Given the description of an element on the screen output the (x, y) to click on. 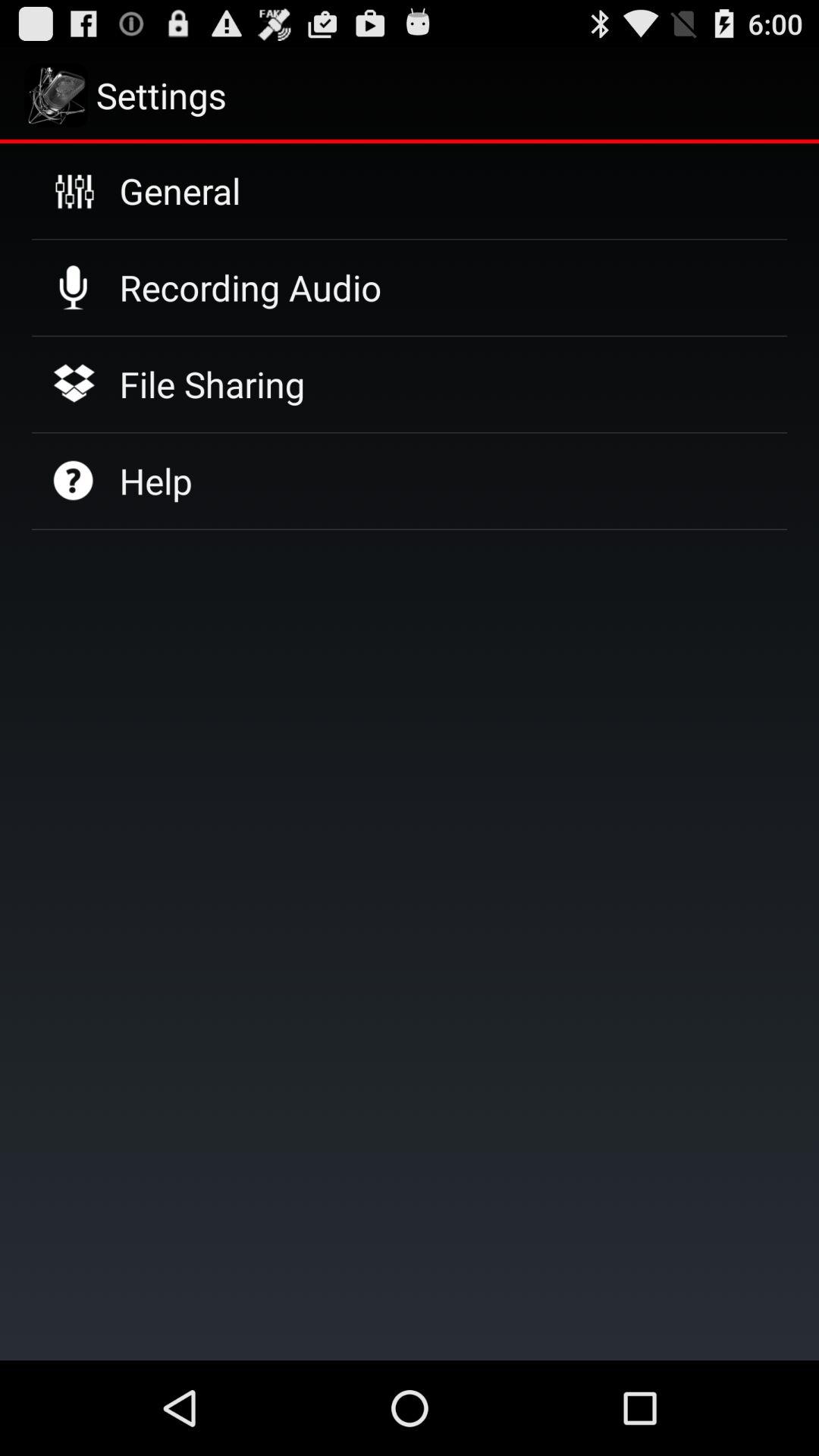
choose item below recording audio icon (211, 384)
